Given the description of an element on the screen output the (x, y) to click on. 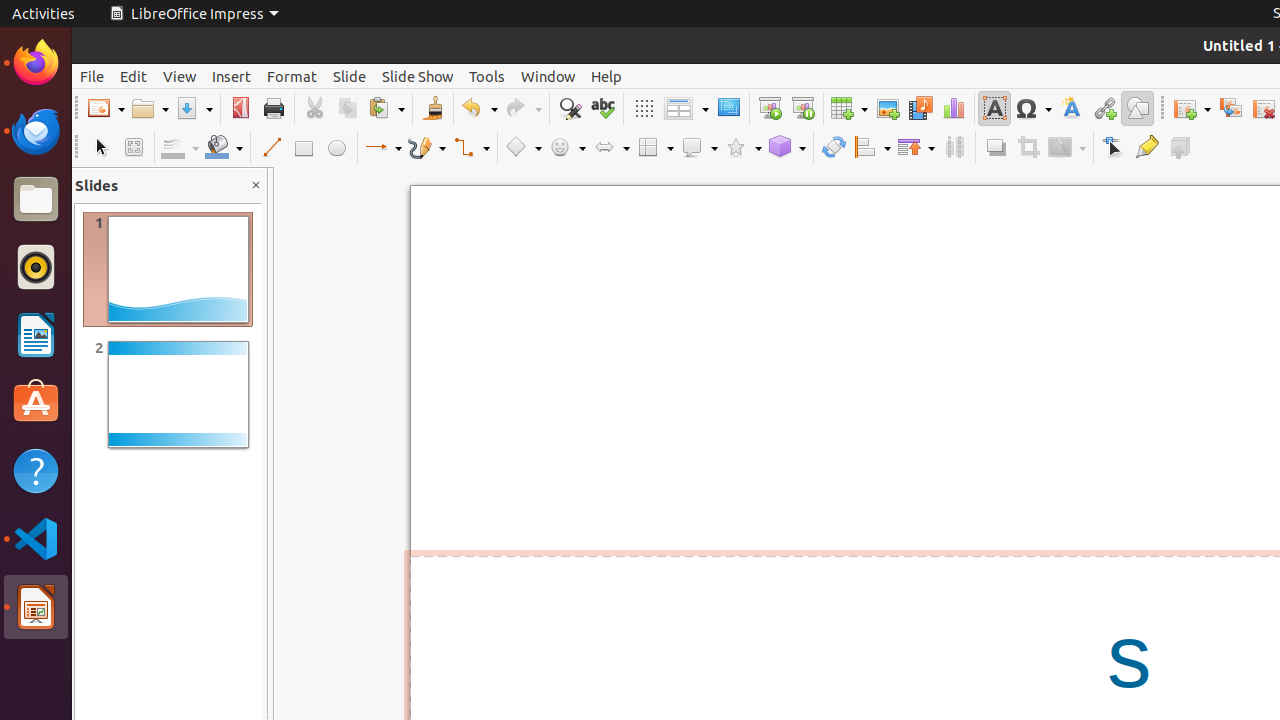
Delete Slide Element type: push-button (1263, 108)
Ubuntu Software Element type: push-button (36, 402)
Undo Element type: push-button (479, 108)
Draw Functions Element type: toggle-button (1137, 108)
Curves and Polygons Element type: push-button (427, 147)
